Given the description of an element on the screen output the (x, y) to click on. 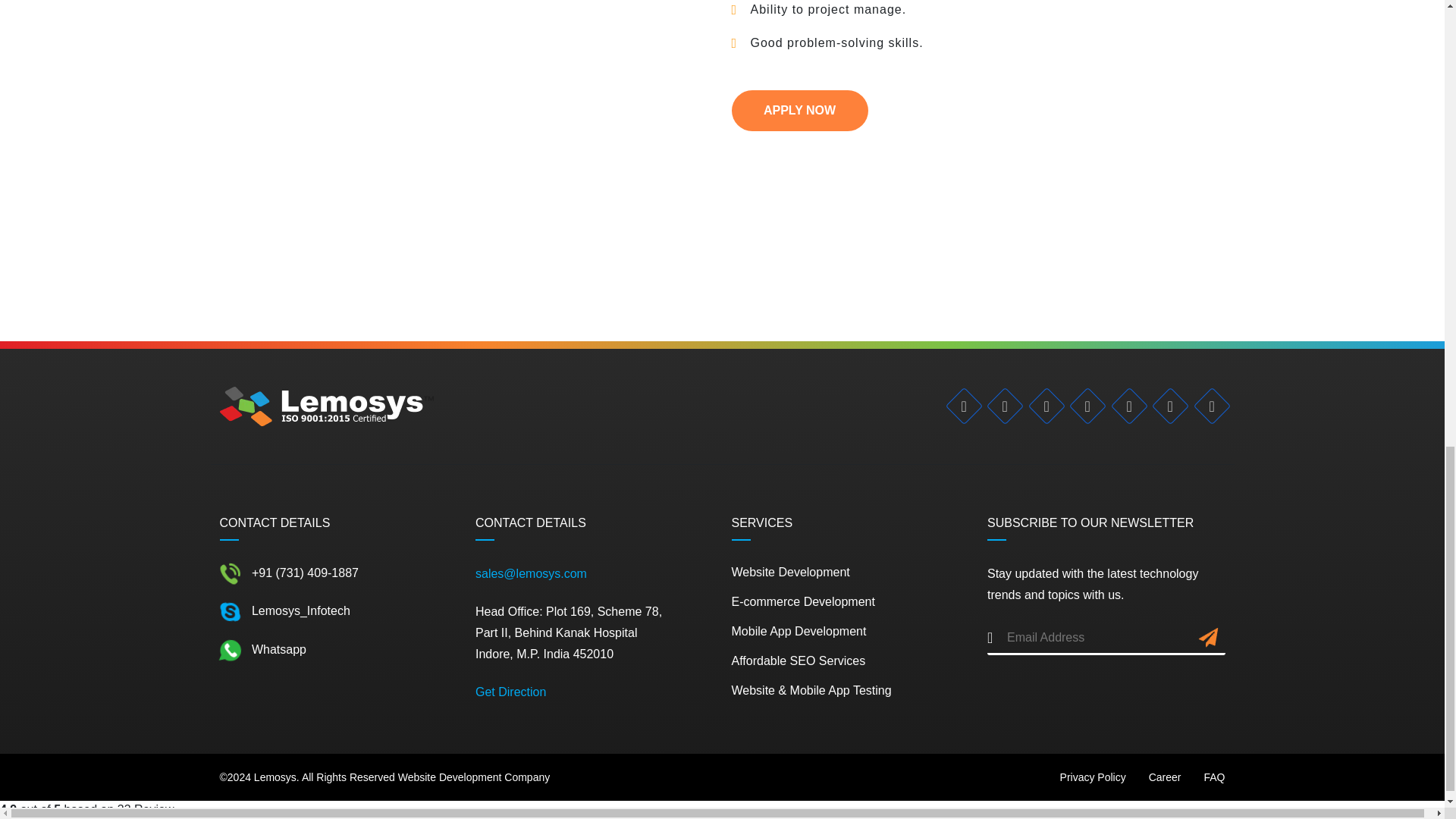
youtube (1164, 400)
Facebook (958, 400)
Linkedin (1040, 400)
APPLY NOW (798, 110)
Apple Itunes (1123, 400)
instagram (1082, 400)
Google Play (1206, 400)
Subscribe (1208, 639)
Tweet Now (1000, 400)
